Given the description of an element on the screen output the (x, y) to click on. 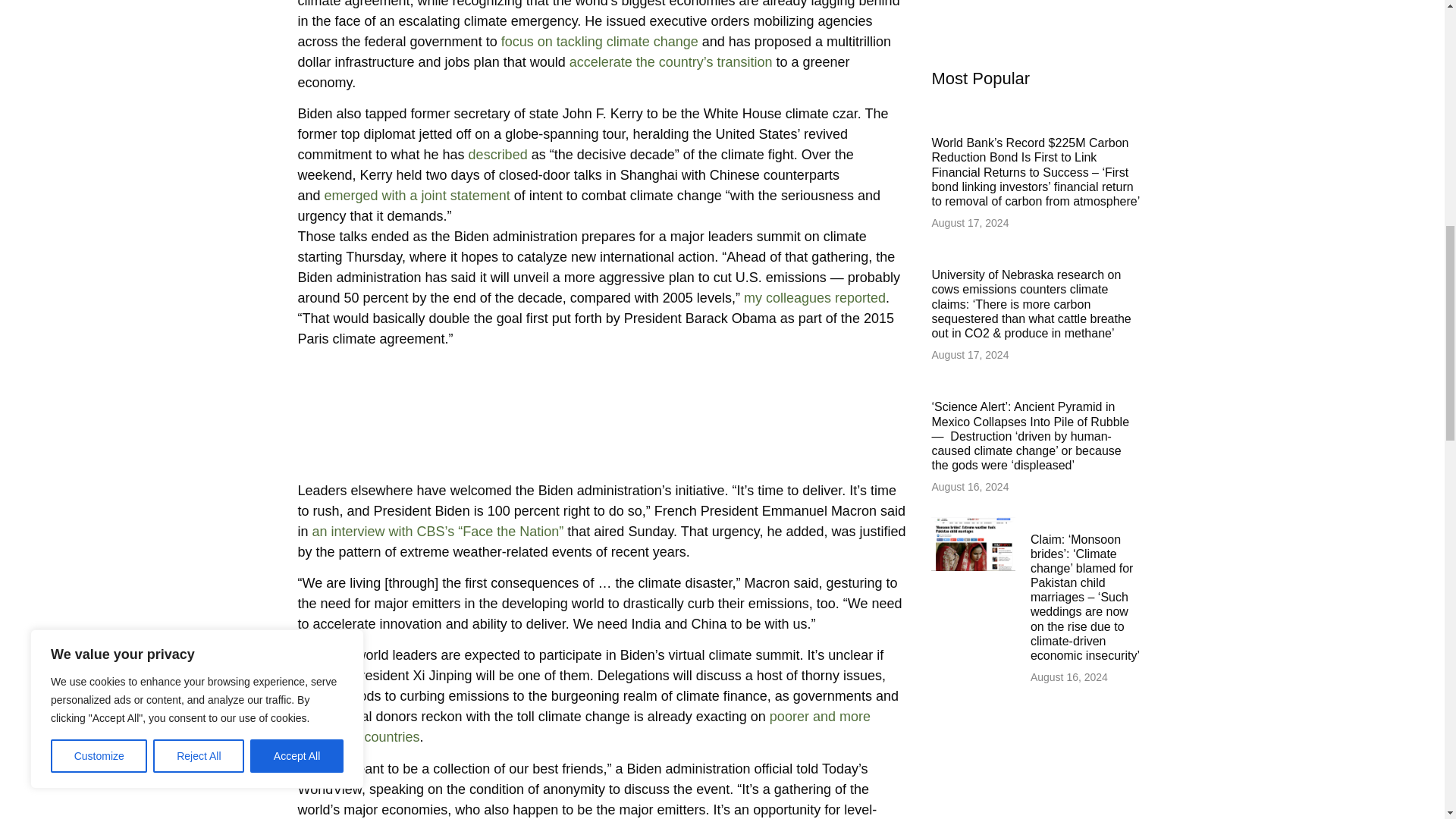
poorer and more vulnerable countries (583, 726)
described (497, 154)
Twitter Tweet (602, 418)
focus on tackling climate change (599, 41)
emerged with a joint statement (417, 195)
my colleagues reported (814, 297)
